Given the description of an element on the screen output the (x, y) to click on. 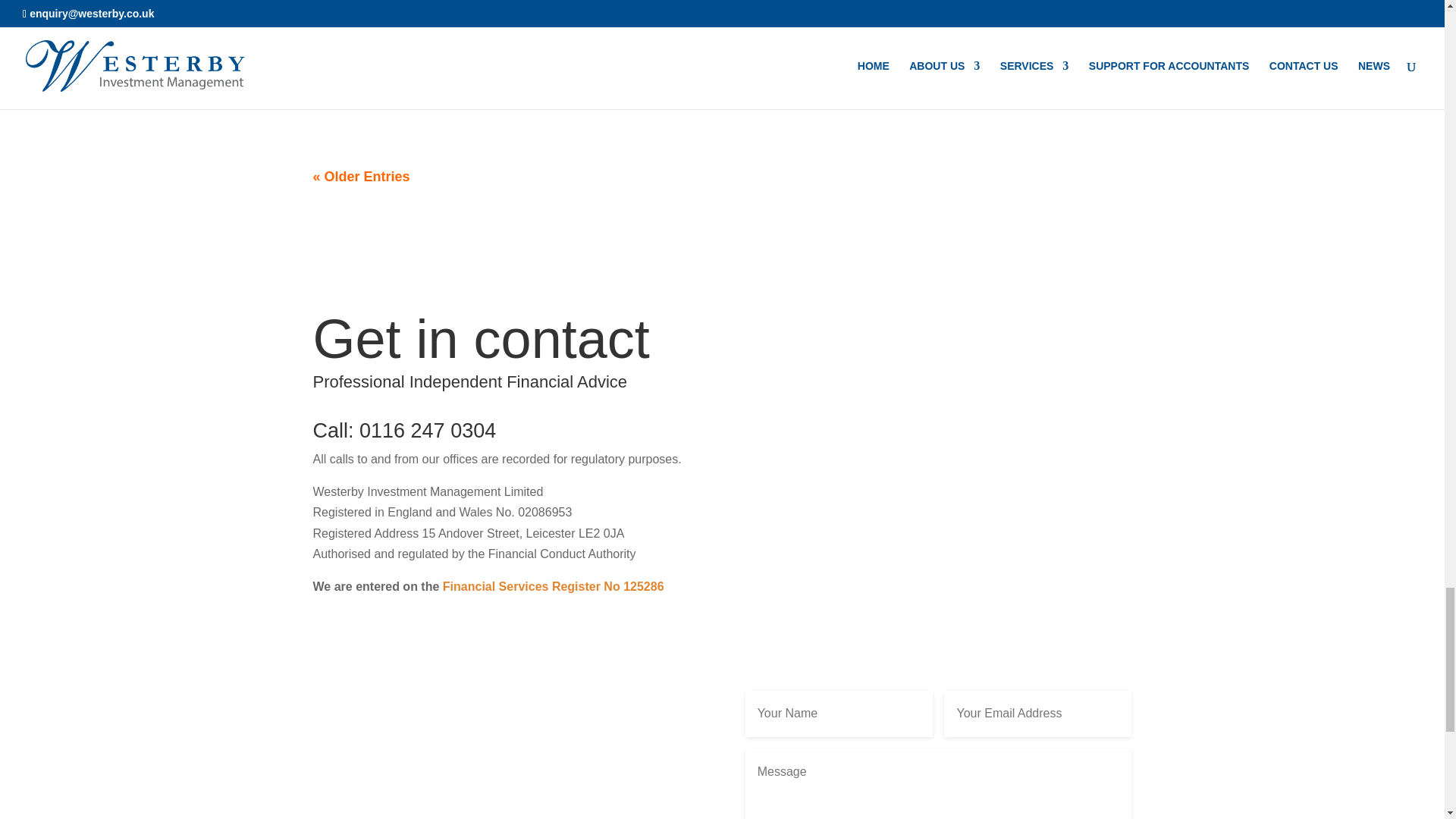
Financial Services Register No 125286 (552, 585)
